Given the description of an element on the screen output the (x, y) to click on. 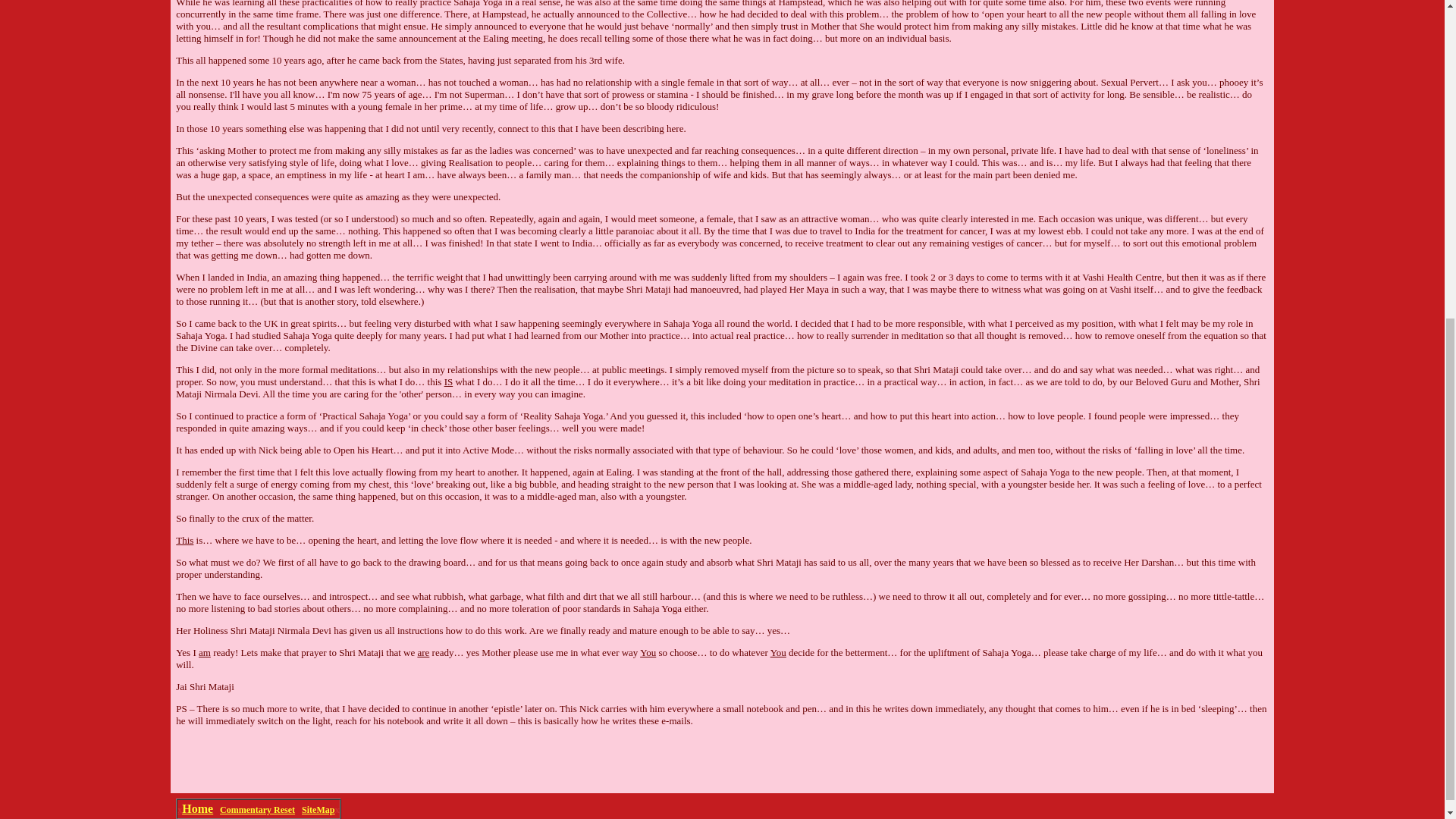
SiteMap (317, 809)
Commentary Reset (257, 809)
Home (197, 808)
